Given the description of an element on the screen output the (x, y) to click on. 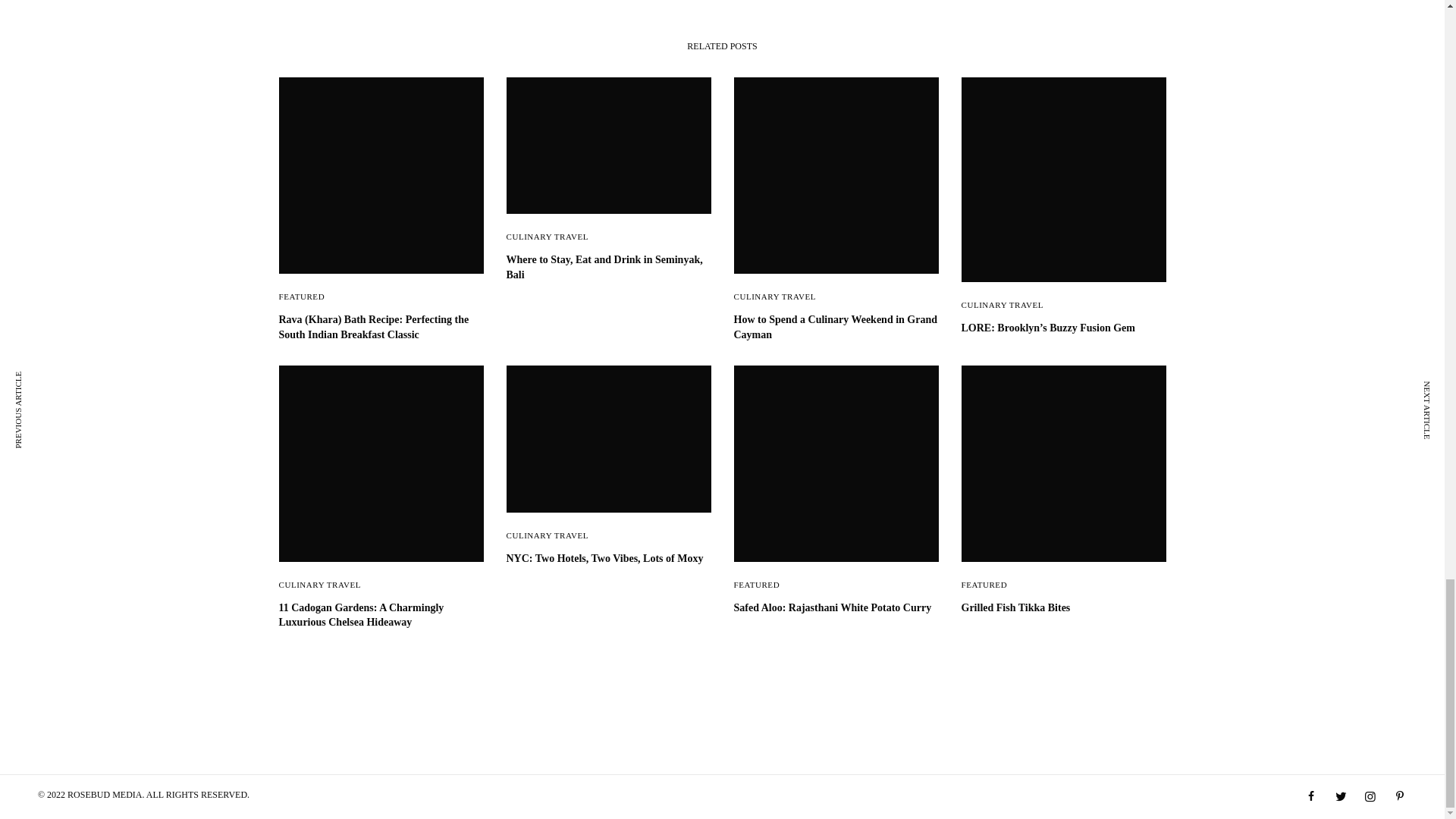
Where to Stay, Eat and Drink in Seminyak, Bali (608, 266)
11 Cadogan Gardens: A Charmingly Luxurious Chelsea Hideaway (381, 614)
NYC: Two Hotels, Two Vibes, Lots of Moxy (608, 558)
Safed Aloo: Rajasthani White Potato Curry (836, 607)
How to Spend a Culinary Weekend in Grand Cayman (836, 327)
Grilled Fish Tikka Bites (1063, 607)
